Given the description of an element on the screen output the (x, y) to click on. 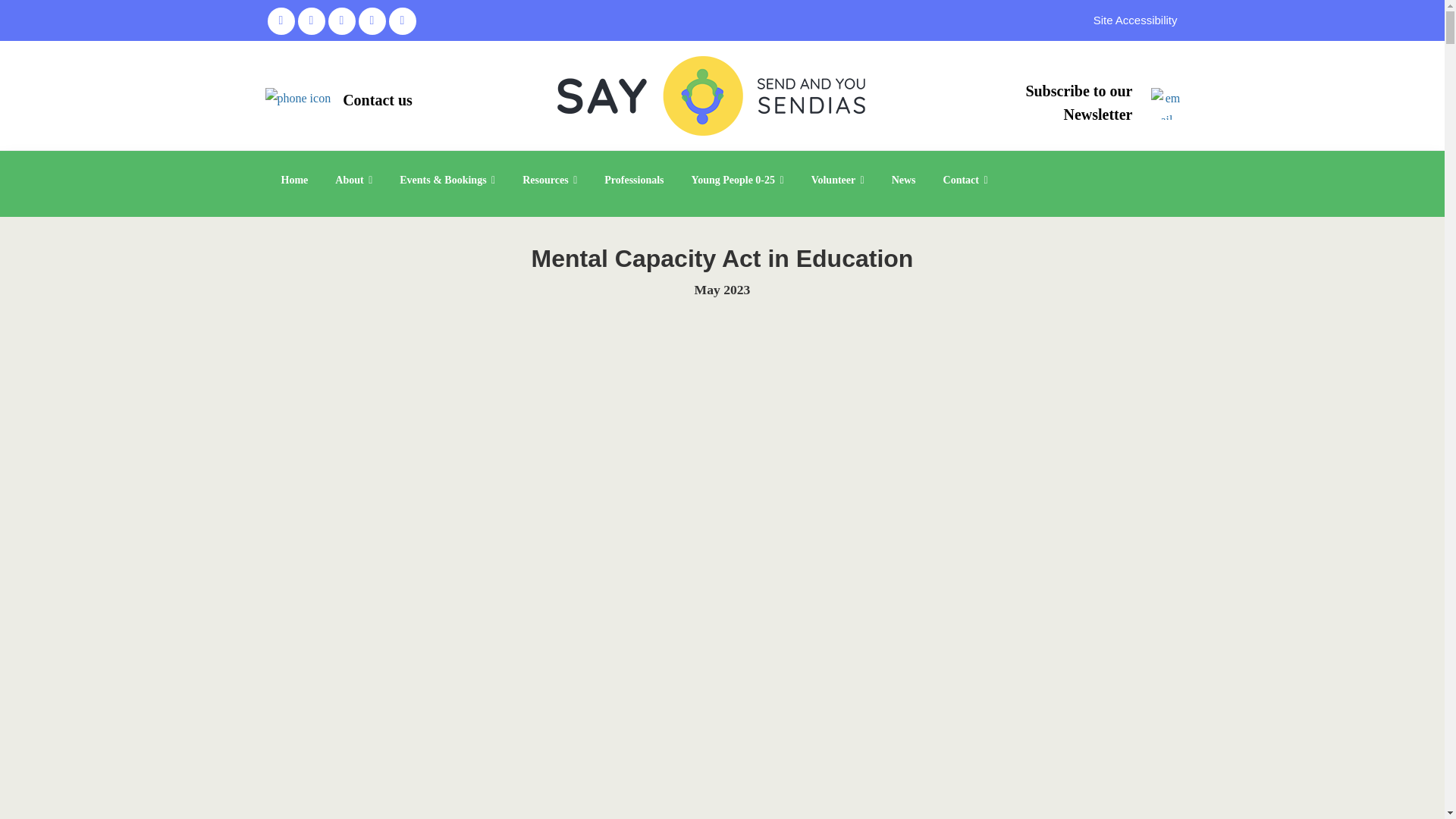
Subscribe to our Newsletter (1078, 102)
Contact us (377, 99)
About (353, 179)
Site Accessibility (1135, 19)
Site Accessibility (1135, 19)
Home (293, 179)
Young People 0-25 (737, 179)
Subscribe to our Newsletter (1078, 102)
About (353, 179)
Contact us (377, 99)
